Given the description of an element on the screen output the (x, y) to click on. 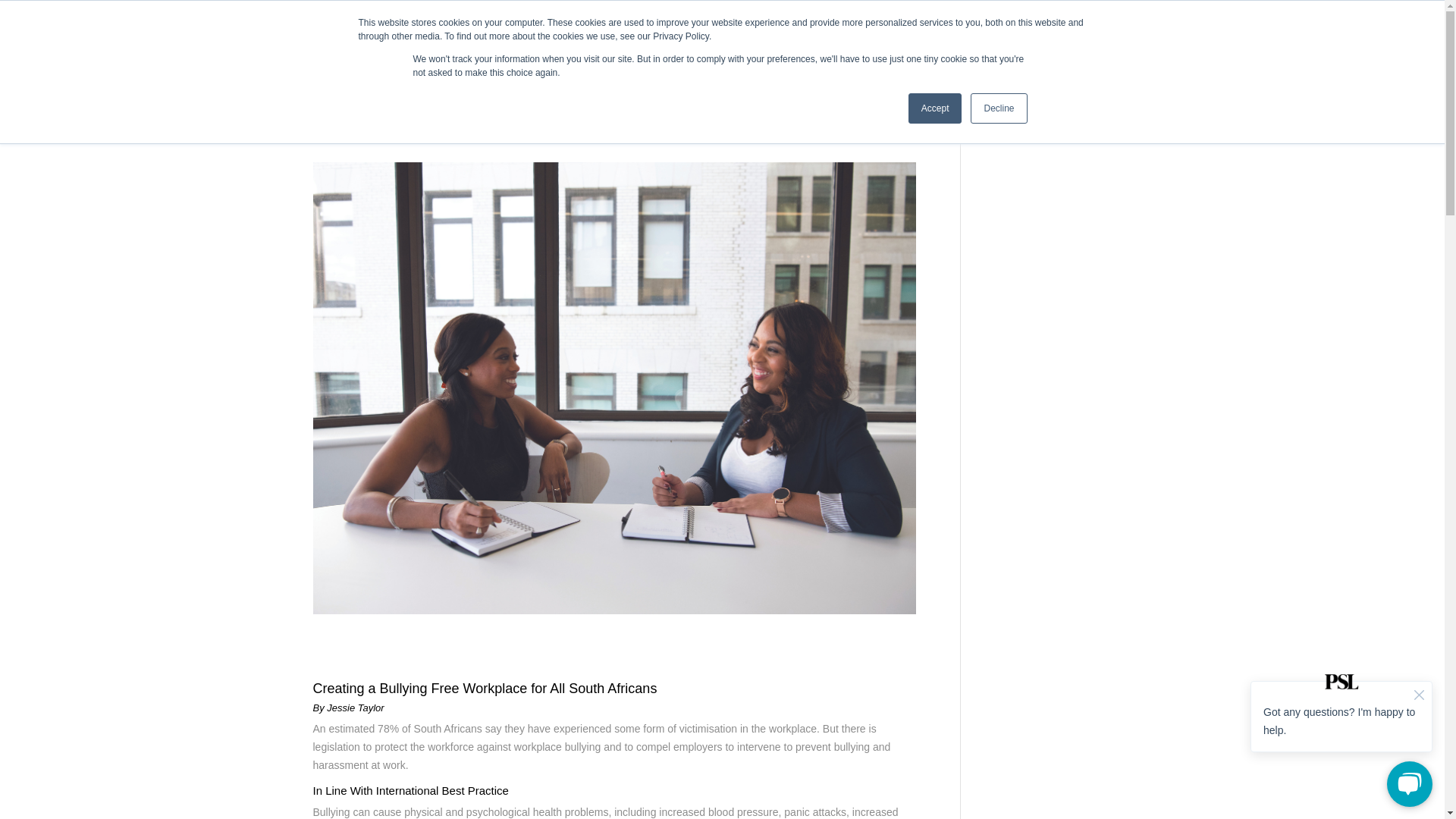
Contact (906, 40)
Editor (340, 136)
Accept (935, 108)
Public Sector Leaders (514, 136)
0 comments (603, 136)
Editions (797, 40)
Feature in Public Sector Leaders (1038, 40)
Decline (998, 108)
News (443, 136)
Posts by Editor (340, 136)
